Given the description of an element on the screen output the (x, y) to click on. 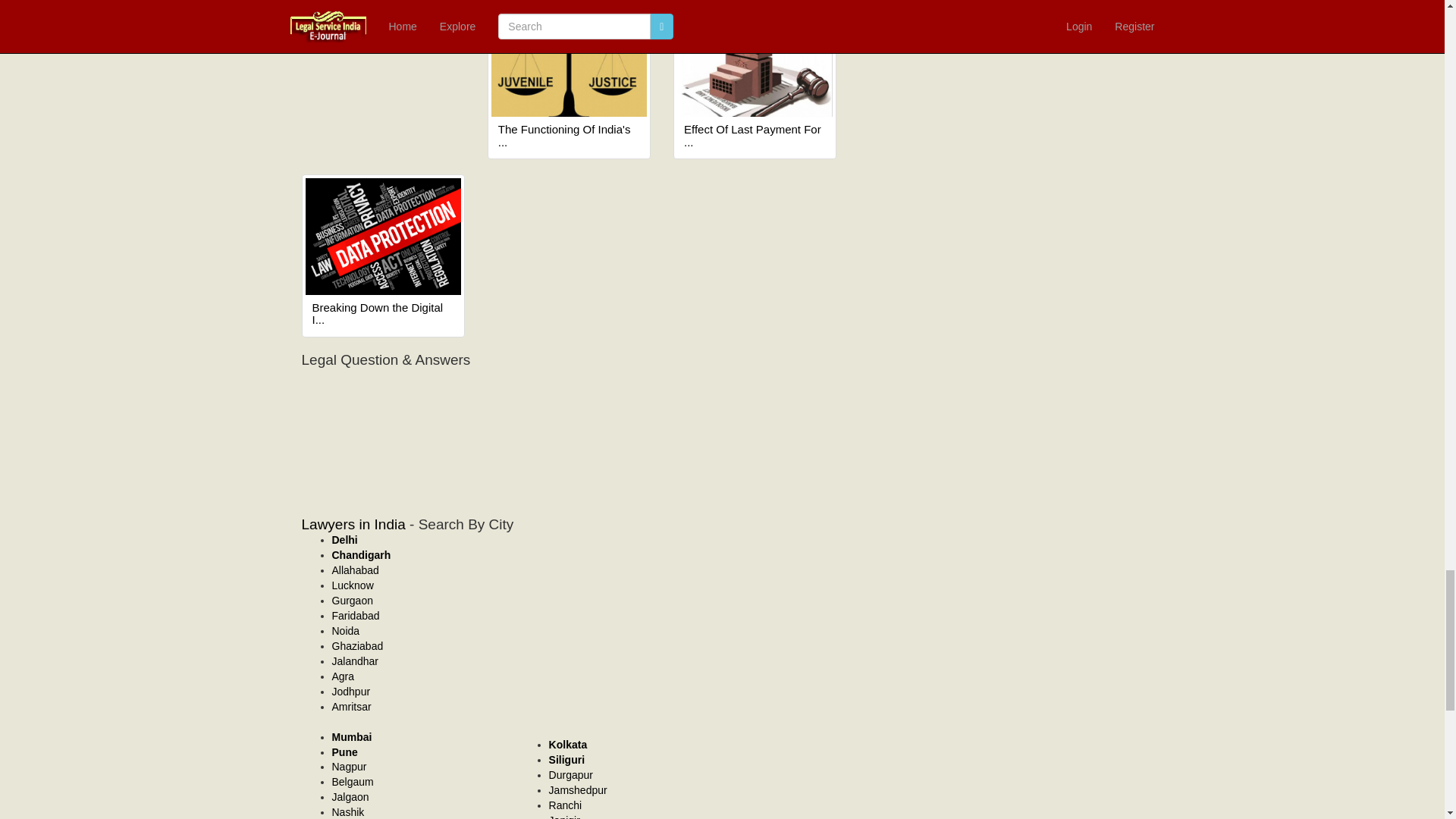
Lucknow (352, 585)
lawyers in Mumbai (351, 736)
Lawyers in Amritsar (351, 706)
Lawyers in Allahabad (354, 570)
lawyers in Agra (343, 676)
Mumbai (351, 736)
fw-iframe (586, 425)
Chandigarh (361, 554)
Allahabad (354, 570)
Lawyers in India (353, 524)
